Given the description of an element on the screen output the (x, y) to click on. 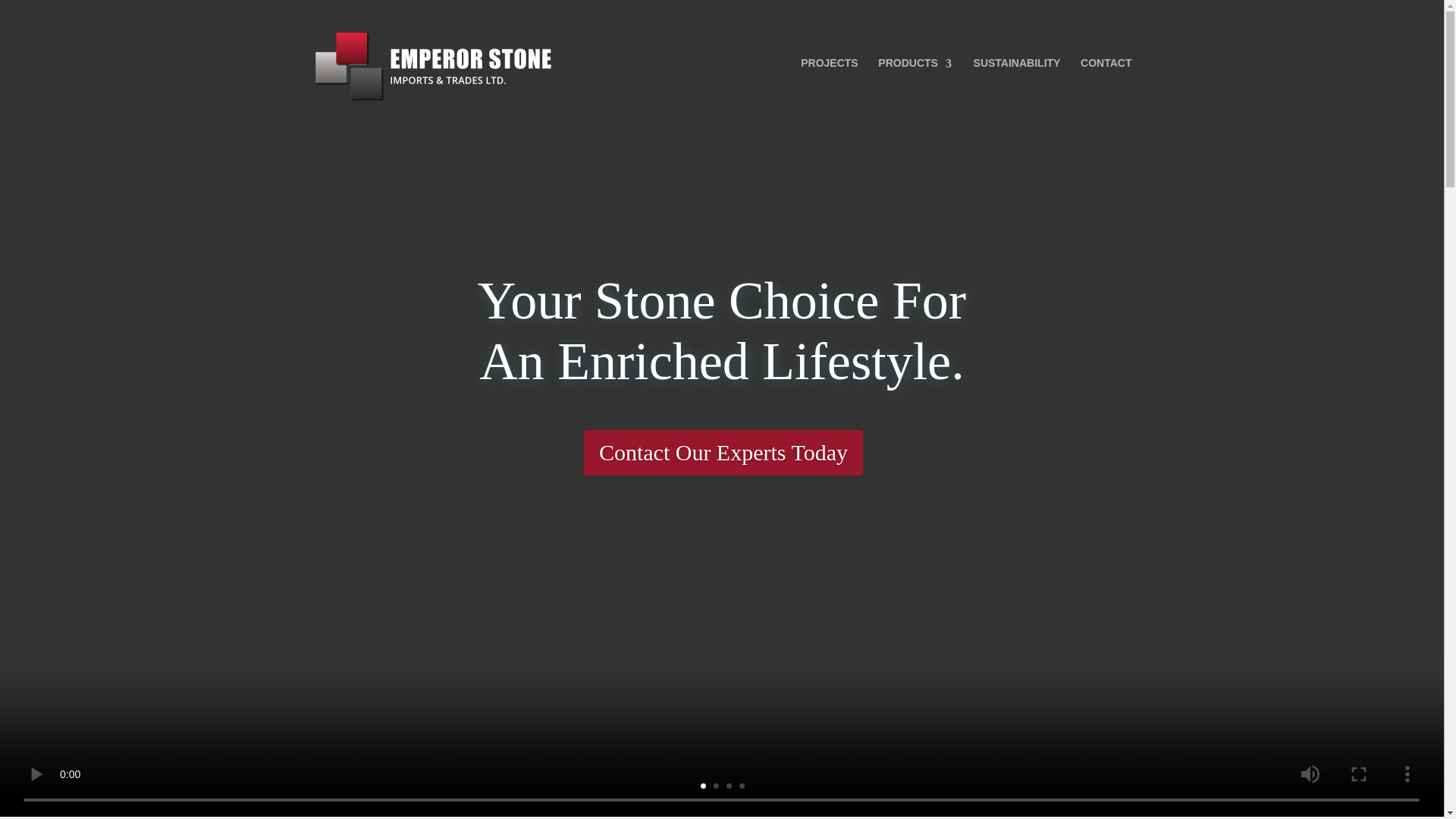
SUSTAINABILITY (1017, 64)
PROJECTS (828, 64)
CONTACT (1105, 64)
3 (729, 785)
PRODUCTS (915, 64)
4 (741, 785)
1 (703, 785)
